Given the description of an element on the screen output the (x, y) to click on. 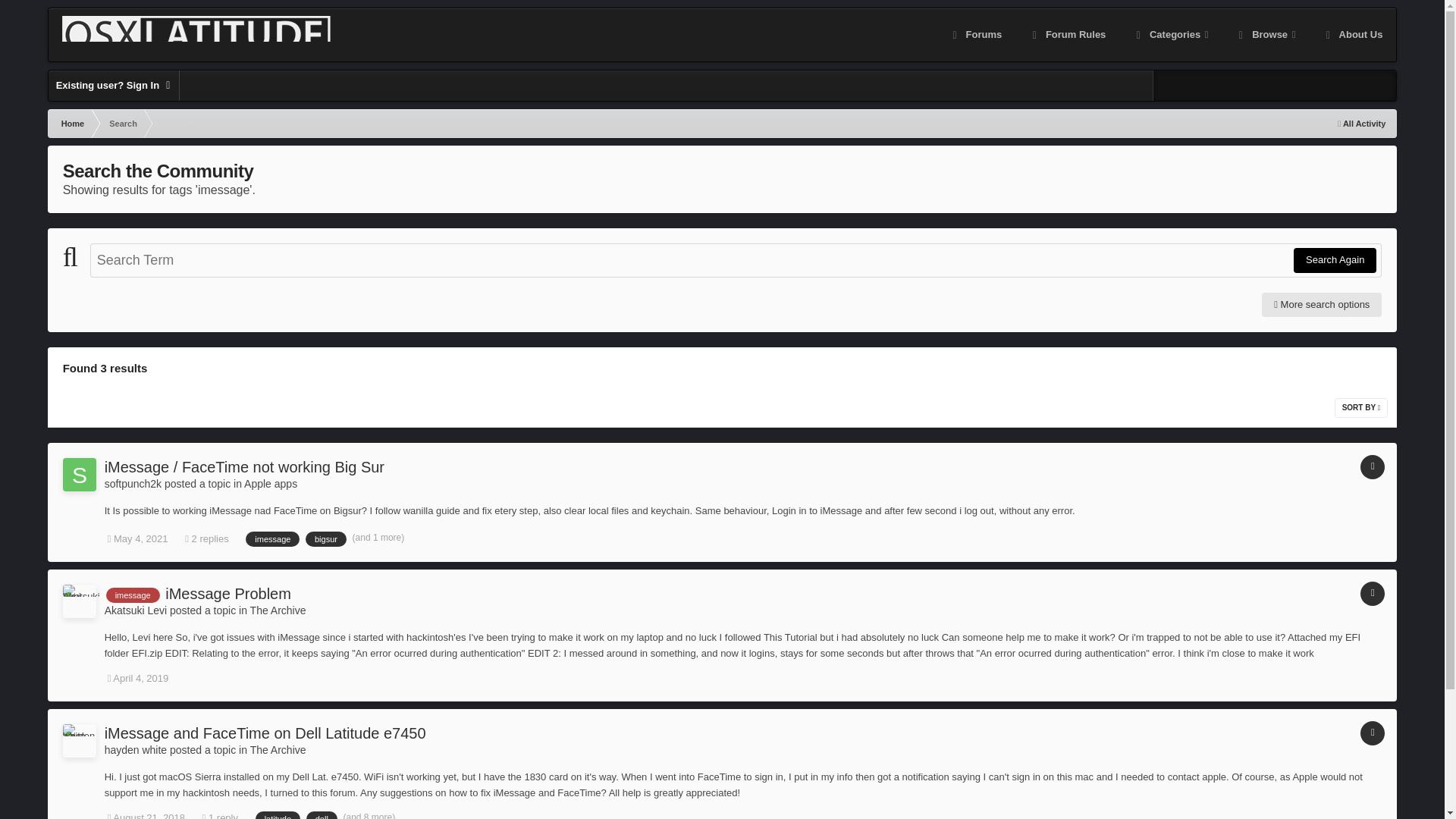
Home (72, 123)
Categories (1170, 34)
Topic (1371, 467)
Forum Rules (1066, 34)
About Us (1352, 34)
Find other content tagged with 'imessage' (133, 595)
Go to Akatsuki Levi's profile (79, 601)
Topic (1371, 593)
Find other content tagged with 'imessage' (272, 539)
Find other content tagged with 'bigsur' (325, 539)
